Given the description of an element on the screen output the (x, y) to click on. 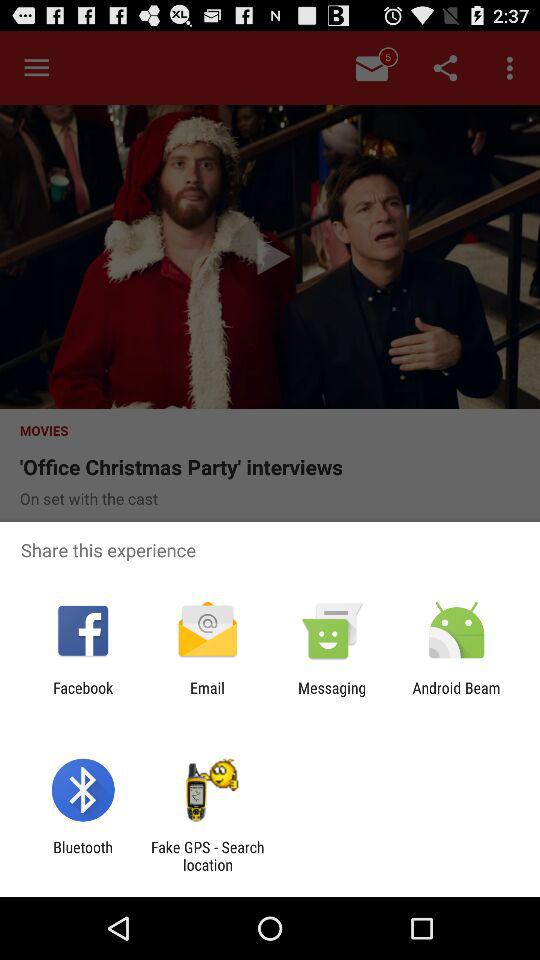
tap the app next to the facebook icon (207, 696)
